Given the description of an element on the screen output the (x, y) to click on. 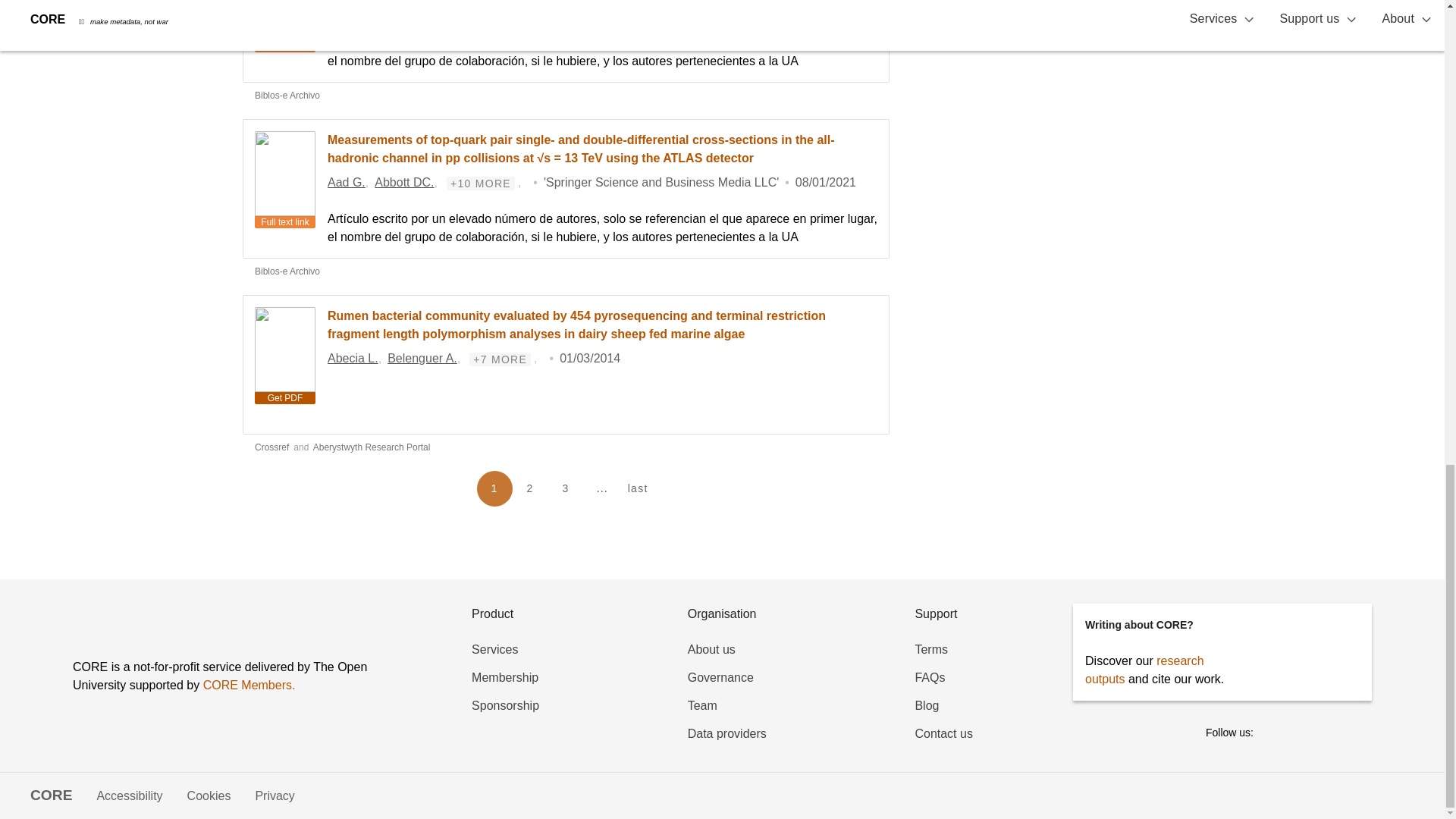
Show more (477, 7)
Show more (480, 183)
Show more (499, 359)
